Given the description of an element on the screen output the (x, y) to click on. 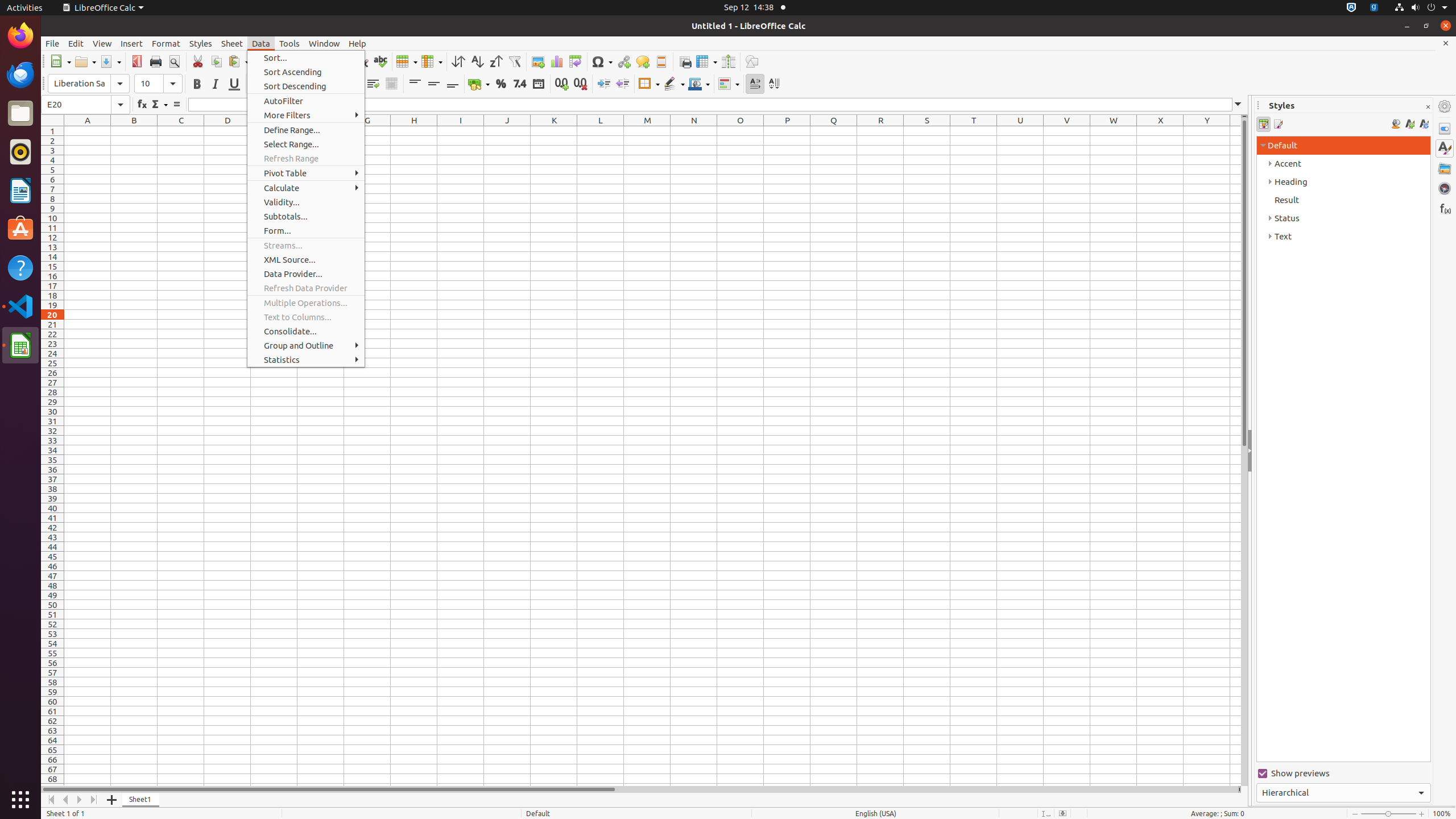
Print Area Element type: push-button (684, 61)
Refresh Data Provider Element type: menu-item (305, 287)
S1 Element type: table-cell (926, 130)
:1.72/StatusNotifierItem Element type: menu (1350, 7)
Hyperlink Element type: toggle-button (623, 61)
